Given the description of an element on the screen output the (x, y) to click on. 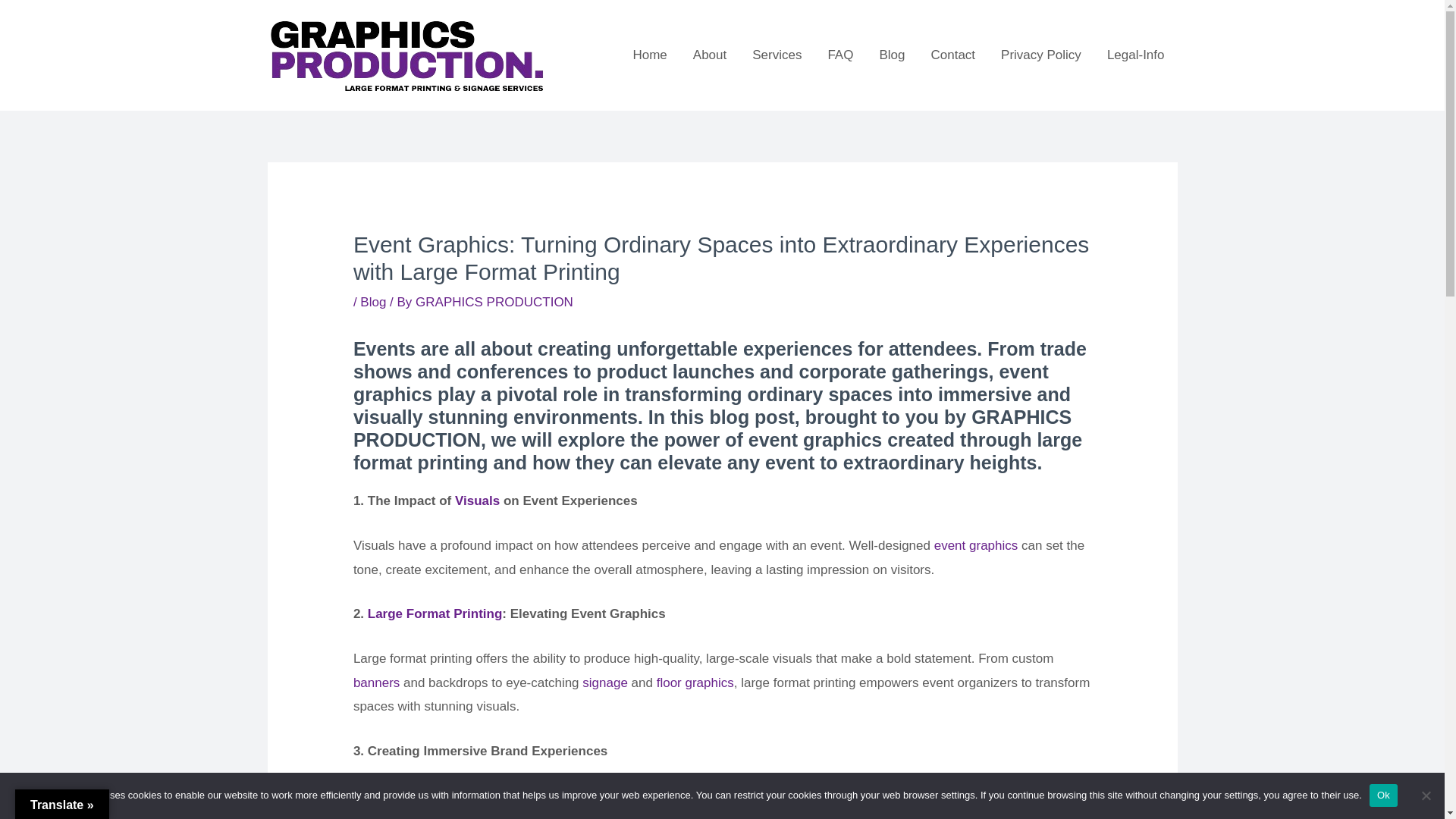
Blog (372, 301)
event graphics (975, 545)
View all posts by GRAPHICS PRODUCTION (493, 301)
Home (649, 55)
Contact (952, 55)
FAQ (839, 55)
floor graphics (694, 682)
Visuals (476, 500)
banners (375, 682)
About (709, 55)
Blog (891, 55)
Services (776, 55)
GRAPHICS PRODUCTION (493, 301)
product launches (549, 795)
Large Format Printing (435, 613)
